Given the description of an element on the screen output the (x, y) to click on. 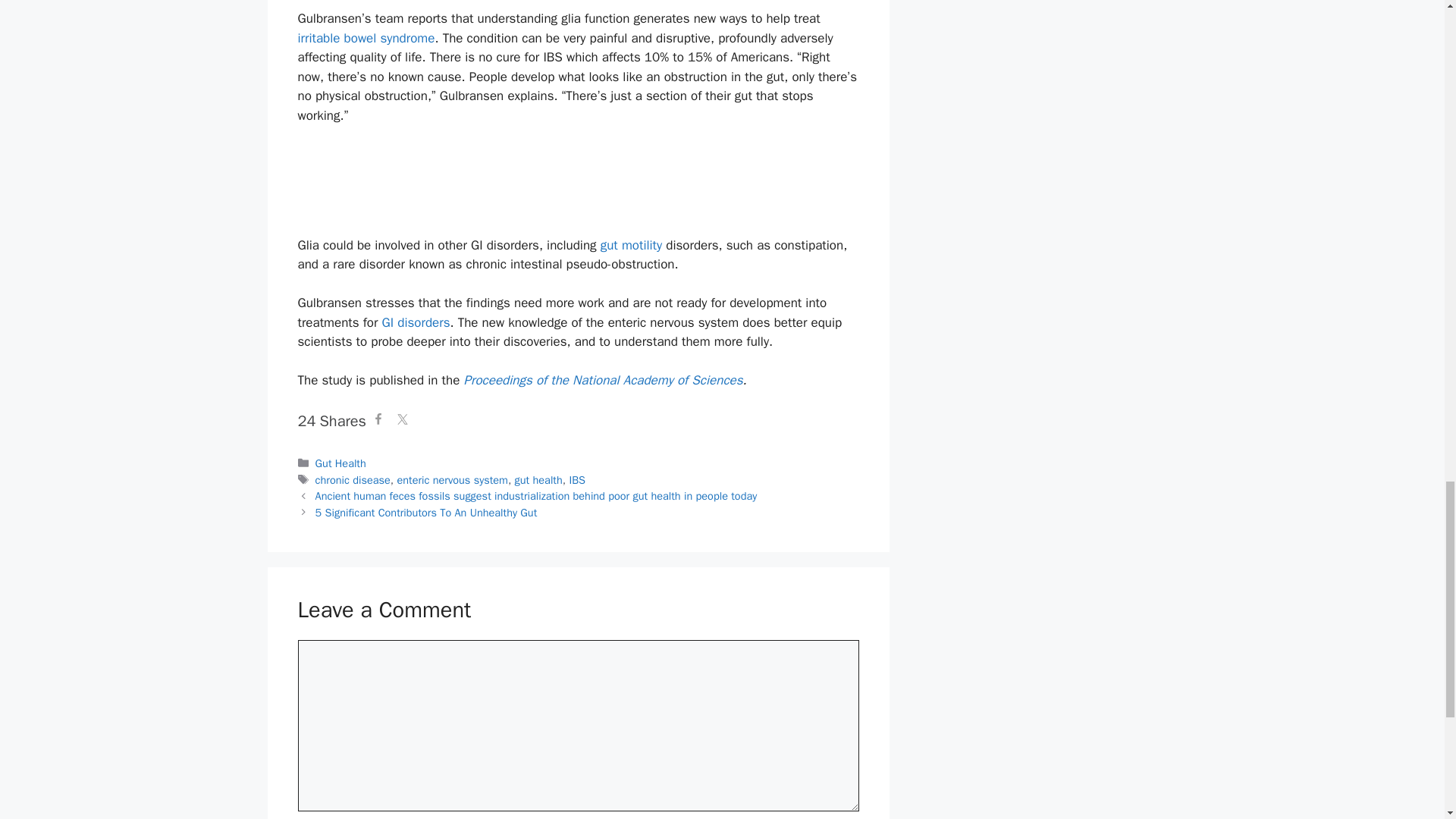
Gut Health (340, 463)
Proceedings of the National Academy of Sciences (602, 380)
GI disorders (415, 322)
gut health (538, 479)
Share on Twitter (402, 421)
IBS (577, 479)
5 Significant Contributors To An Unhealthy Gut (426, 512)
irritable bowel syndrome (365, 37)
chronic disease (352, 479)
enteric nervous system (451, 479)
Share on Facebook (378, 421)
gut motility (630, 245)
